Given the description of an element on the screen output the (x, y) to click on. 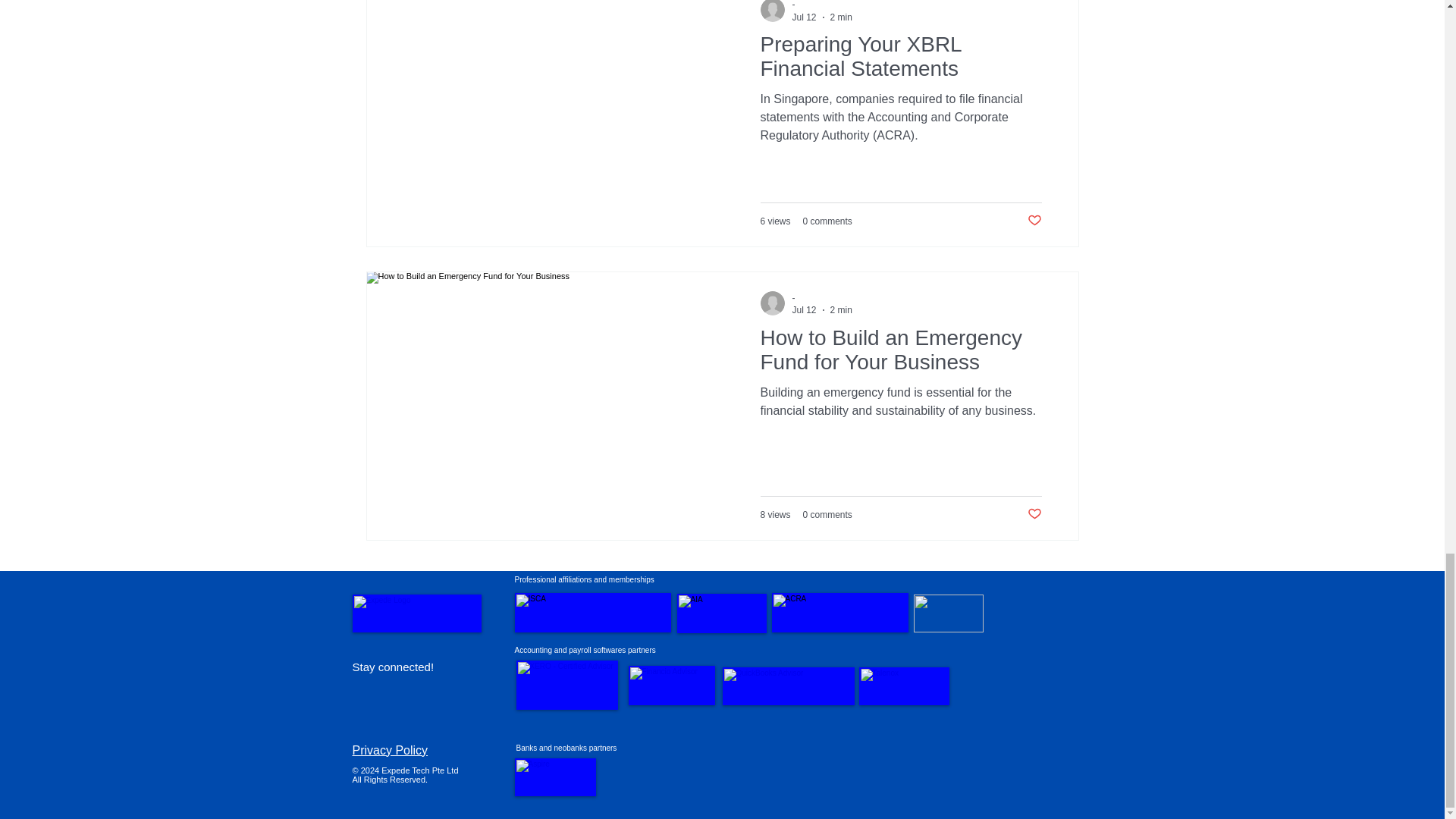
0 comments (827, 221)
Preparing Your XBRL Financial Statements (900, 60)
2 min (840, 309)
Post not marked as liked (1033, 220)
Jul 12 (803, 309)
How to Build an Emergency Fund for Your Business (900, 354)
2 min (840, 17)
SCTP.jpeg (947, 613)
Jul 12 (803, 17)
